Given the description of an element on the screen output the (x, y) to click on. 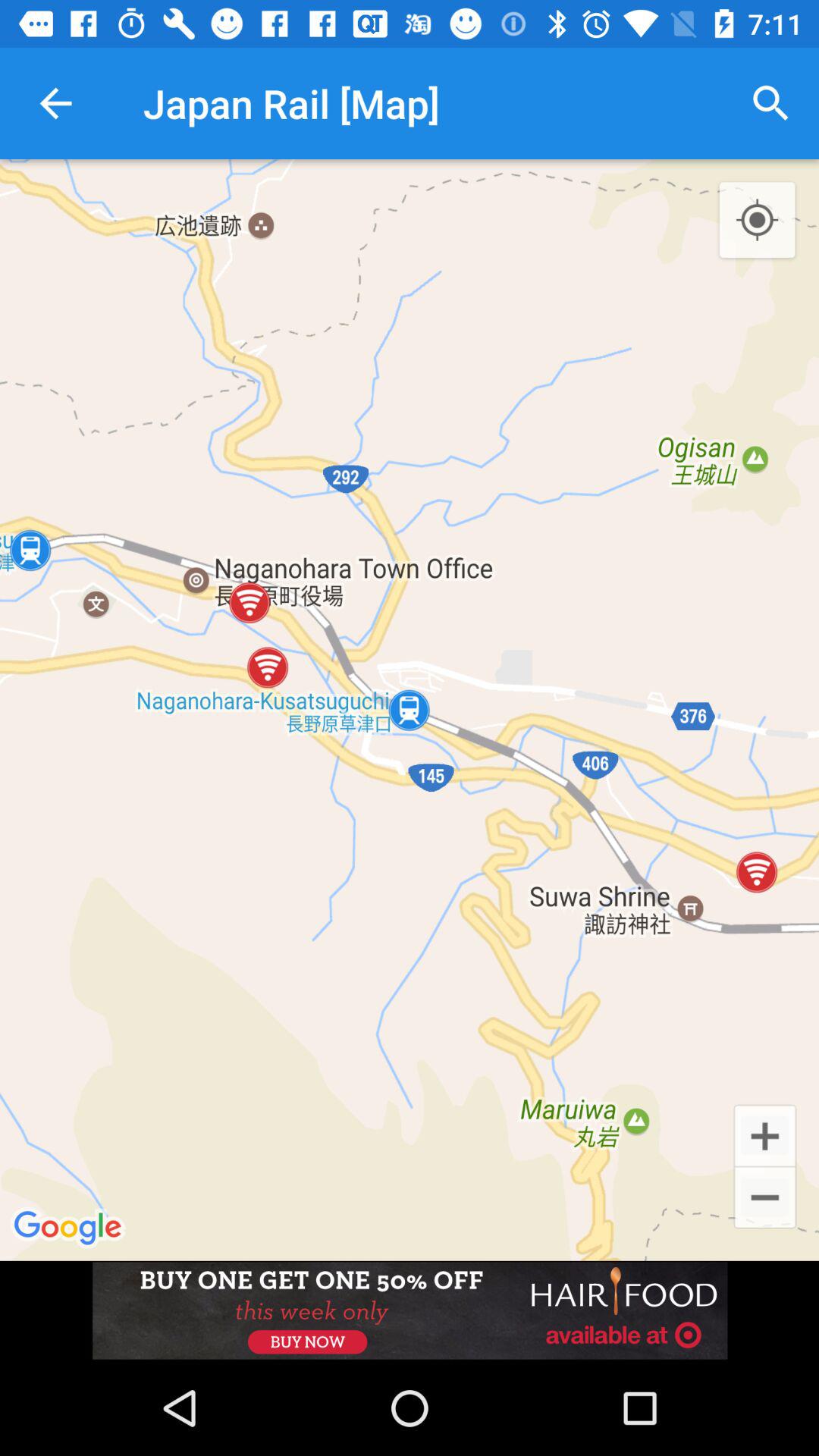
go to add (764, 1134)
